Given the description of an element on the screen output the (x, y) to click on. 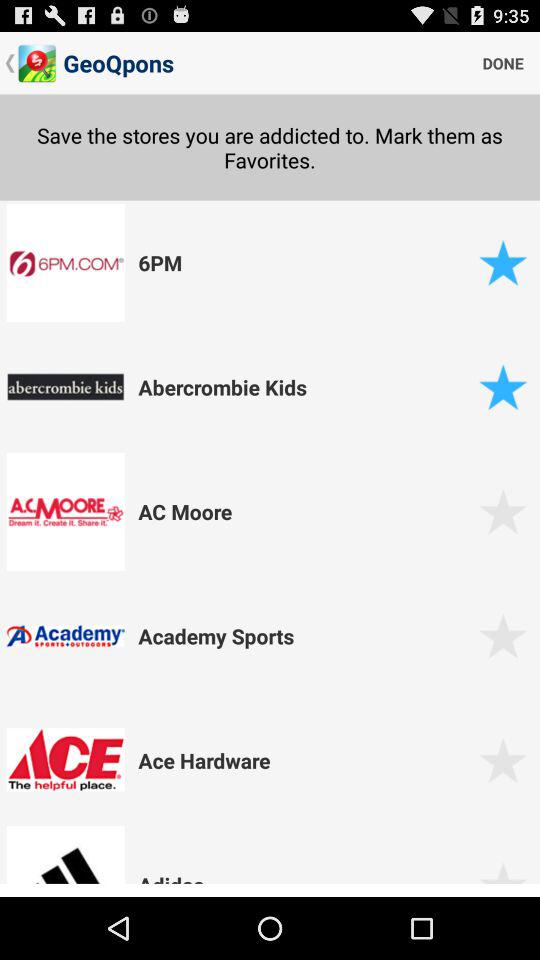
flip to done item (503, 62)
